Given the description of an element on the screen output the (x, y) to click on. 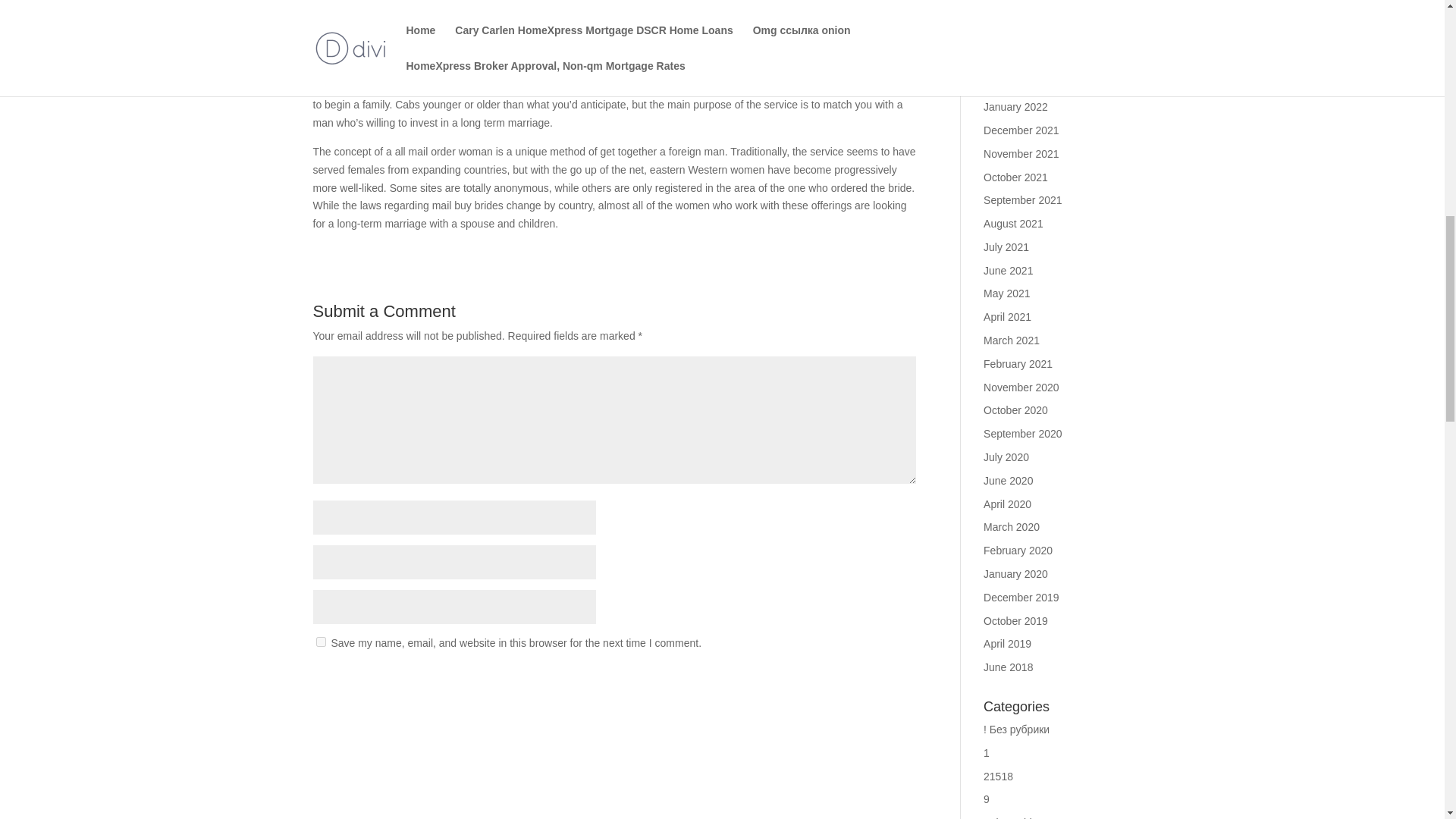
April 2022 (1007, 37)
May 2022 (1006, 13)
March 2022 (1011, 60)
Submit Comment (840, 681)
Submit Comment (840, 681)
yes (319, 642)
